Given the description of an element on the screen output the (x, y) to click on. 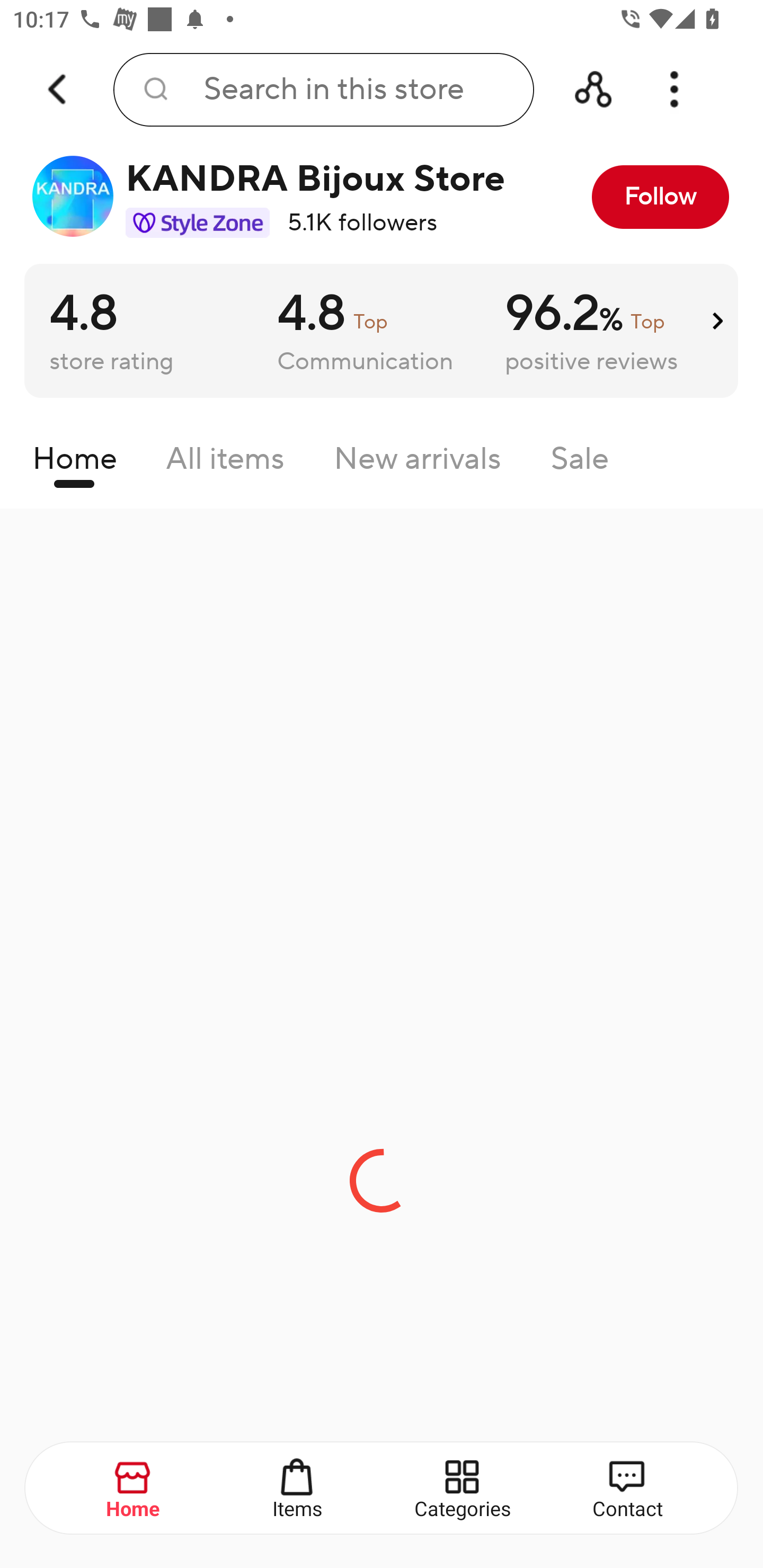
Search in this store (323, 90)
KANDRA Bijoux Store  5.1K followers (272, 196)
Follow (660, 196)
Home (74, 463)
All items (225, 463)
New arrivals
 (418, 463)
Sale (579, 463)
Home (133, 1488)
Items (297, 1488)
Categories (462, 1488)
Contact (627, 1488)
